Given the description of an element on the screen output the (x, y) to click on. 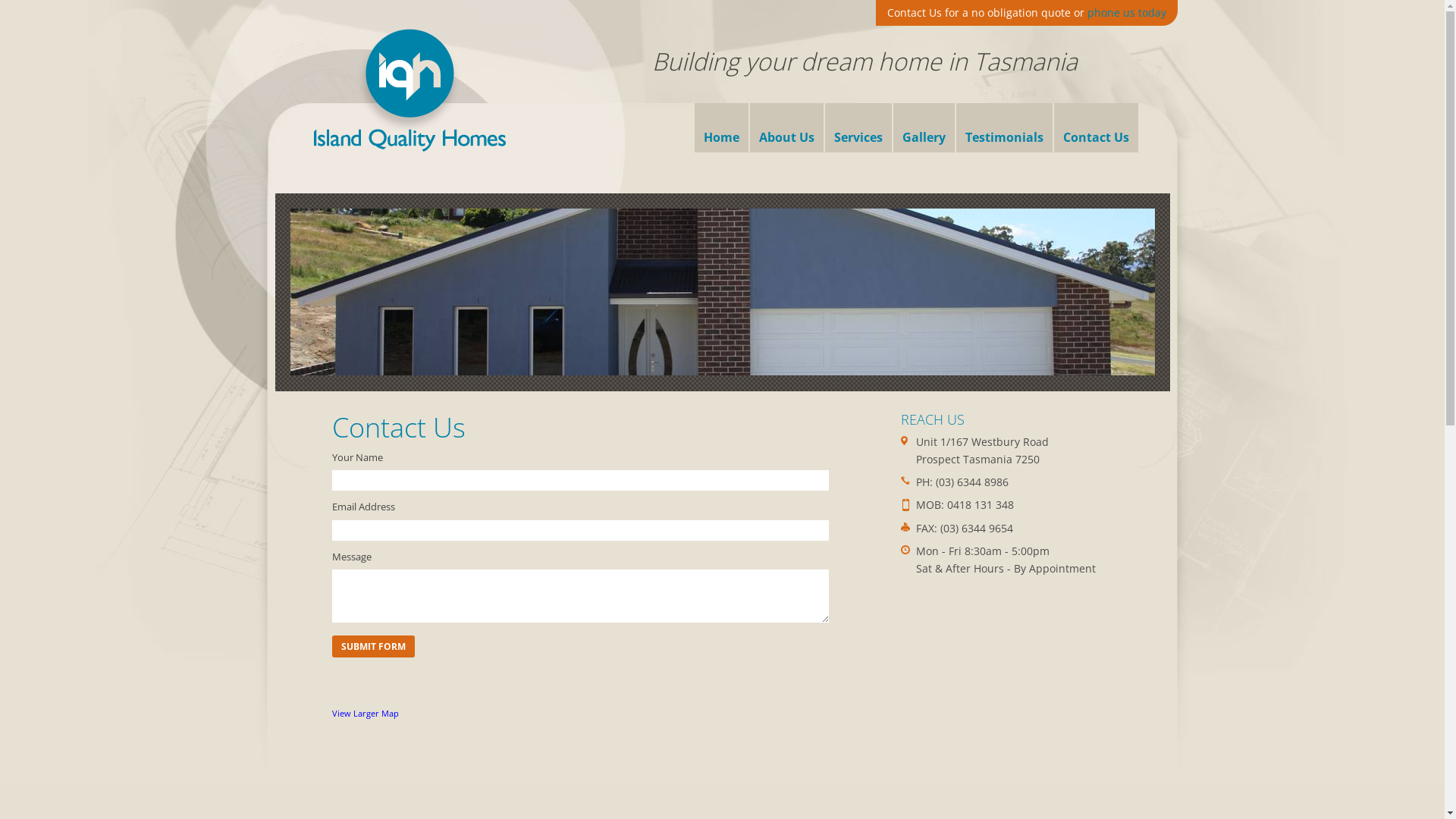
Submit Form Element type: hover (580, 653)
View Larger Map Element type: text (365, 712)
Gallery Element type: text (923, 131)
About Us Element type: text (785, 131)
Home Element type: text (721, 131)
Island Quality Homes Launceston Tasmania Element type: hover (408, 89)
Testimonials Element type: text (1003, 131)
Services Element type: text (858, 131)
phone us today Element type: text (1126, 12)
Contact Us Element type: text (1096, 131)
